Given the description of an element on the screen output the (x, y) to click on. 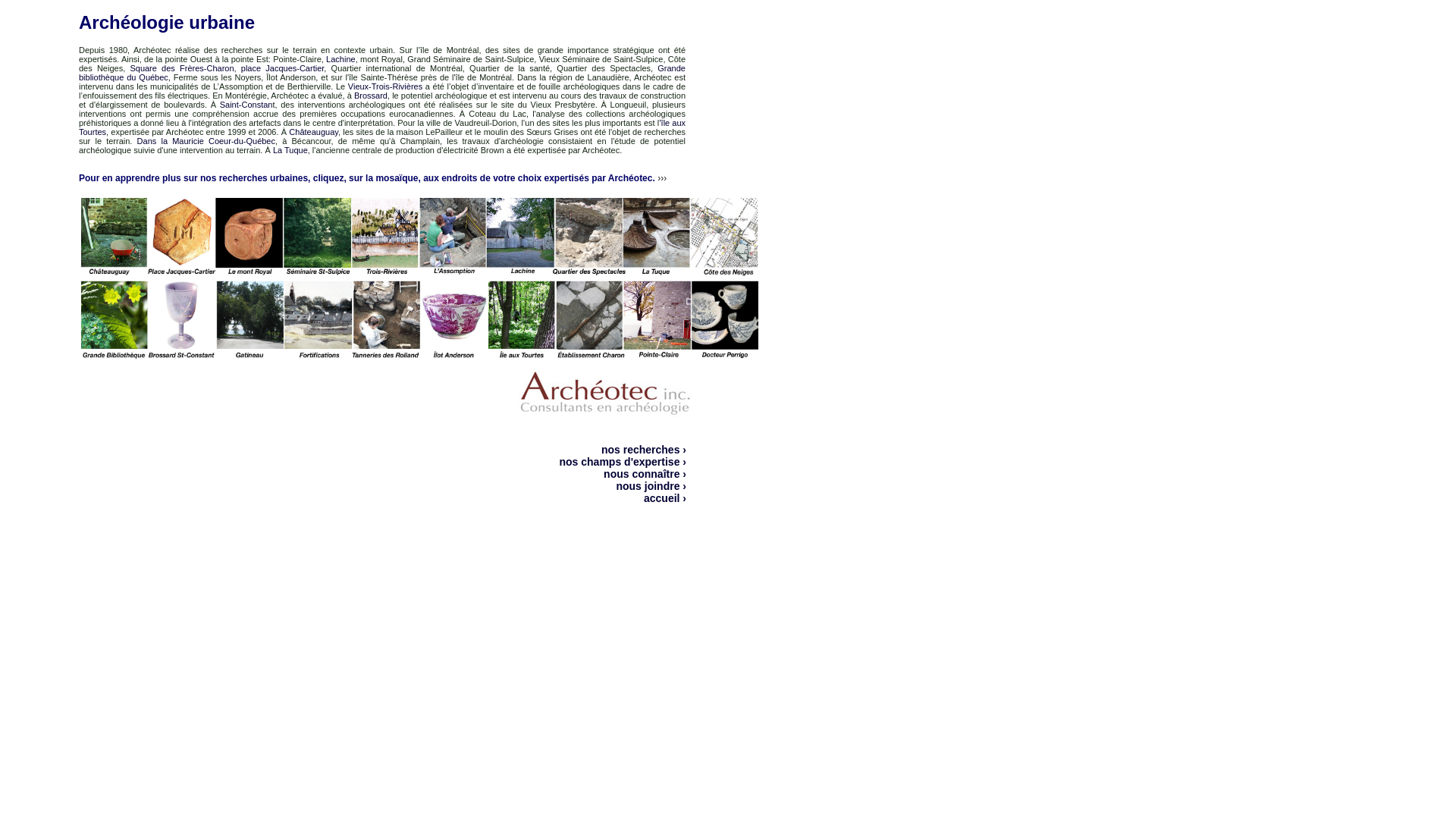
Saint-Constan Element type: text (246, 104)
Brossard Element type: text (370, 95)
Lachine Element type: text (340, 58)
place Jacques-Cartier Element type: text (282, 67)
La Tuque Element type: text (290, 149)
